Given the description of an element on the screen output the (x, y) to click on. 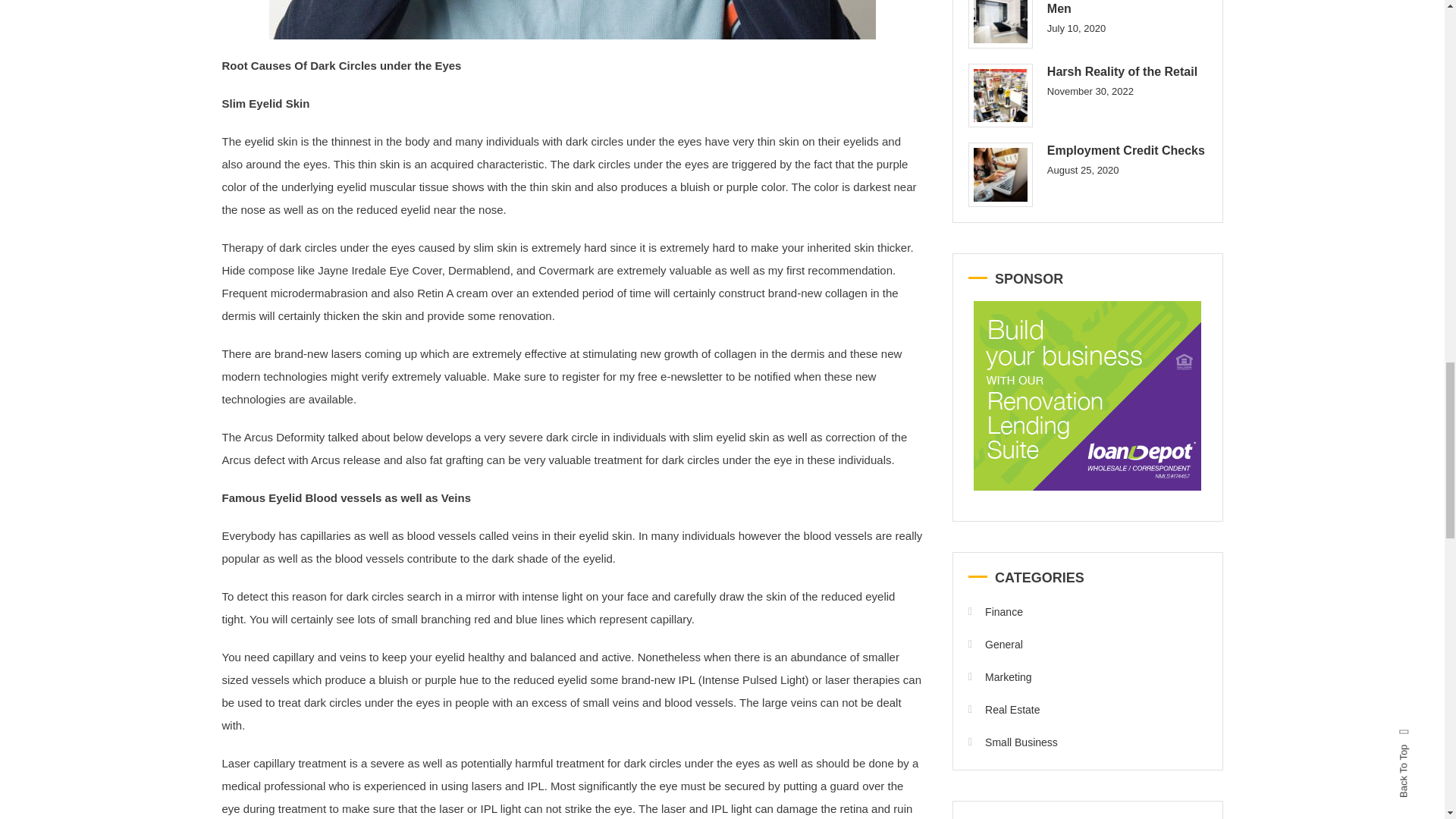
Bedroom Design Ideas for Men (1000, 24)
Harsh Reality of the Retail (1000, 95)
Employment Credit Checks (1000, 174)
